Given the description of an element on the screen output the (x, y) to click on. 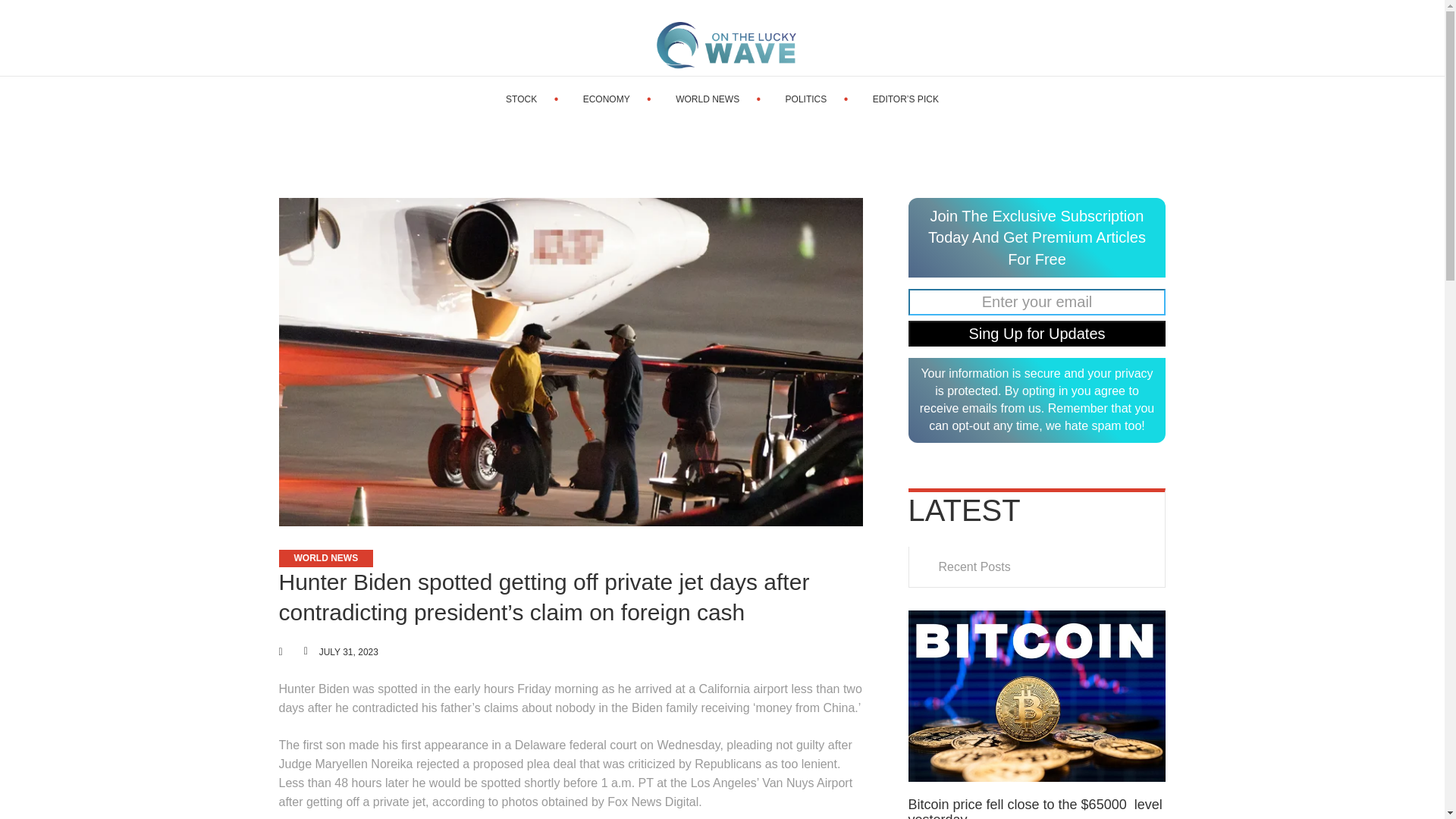
POLITICS (806, 98)
Economy (606, 98)
WORLD NEWS (326, 558)
Search (1399, 37)
Politics (806, 98)
Sing Up for Updates (1037, 334)
Sing Up for Updates (1037, 334)
STOCK (521, 98)
World News (707, 98)
Editor's Pick (905, 98)
Enter your email (1037, 302)
WORLD NEWS (707, 98)
ECONOMY (606, 98)
Stock (521, 98)
